Given the description of an element on the screen output the (x, y) to click on. 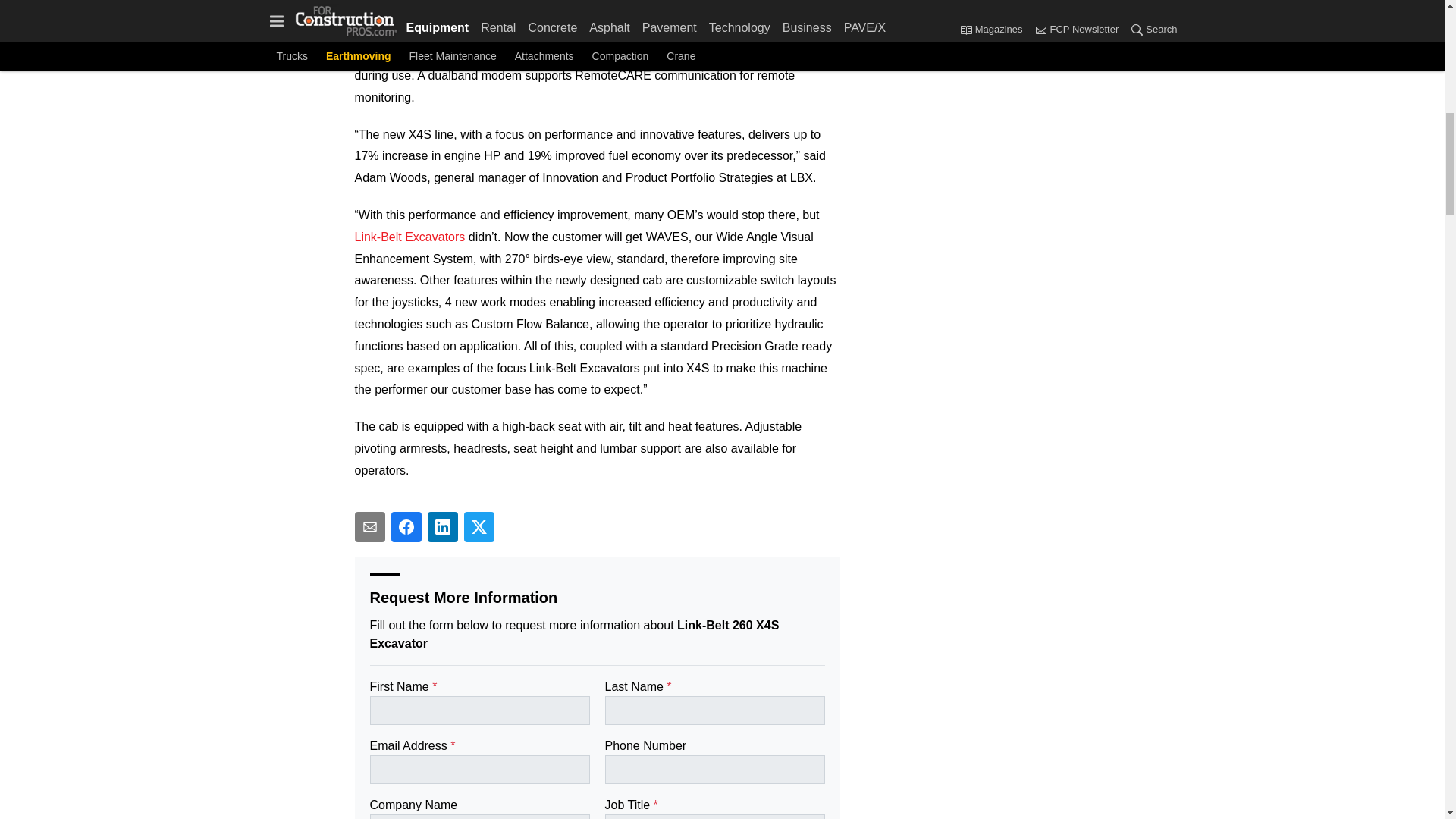
Share To email (370, 526)
Share To linkedin (443, 526)
Share To twitter (479, 526)
Share To facebook (406, 526)
